Given the description of an element on the screen output the (x, y) to click on. 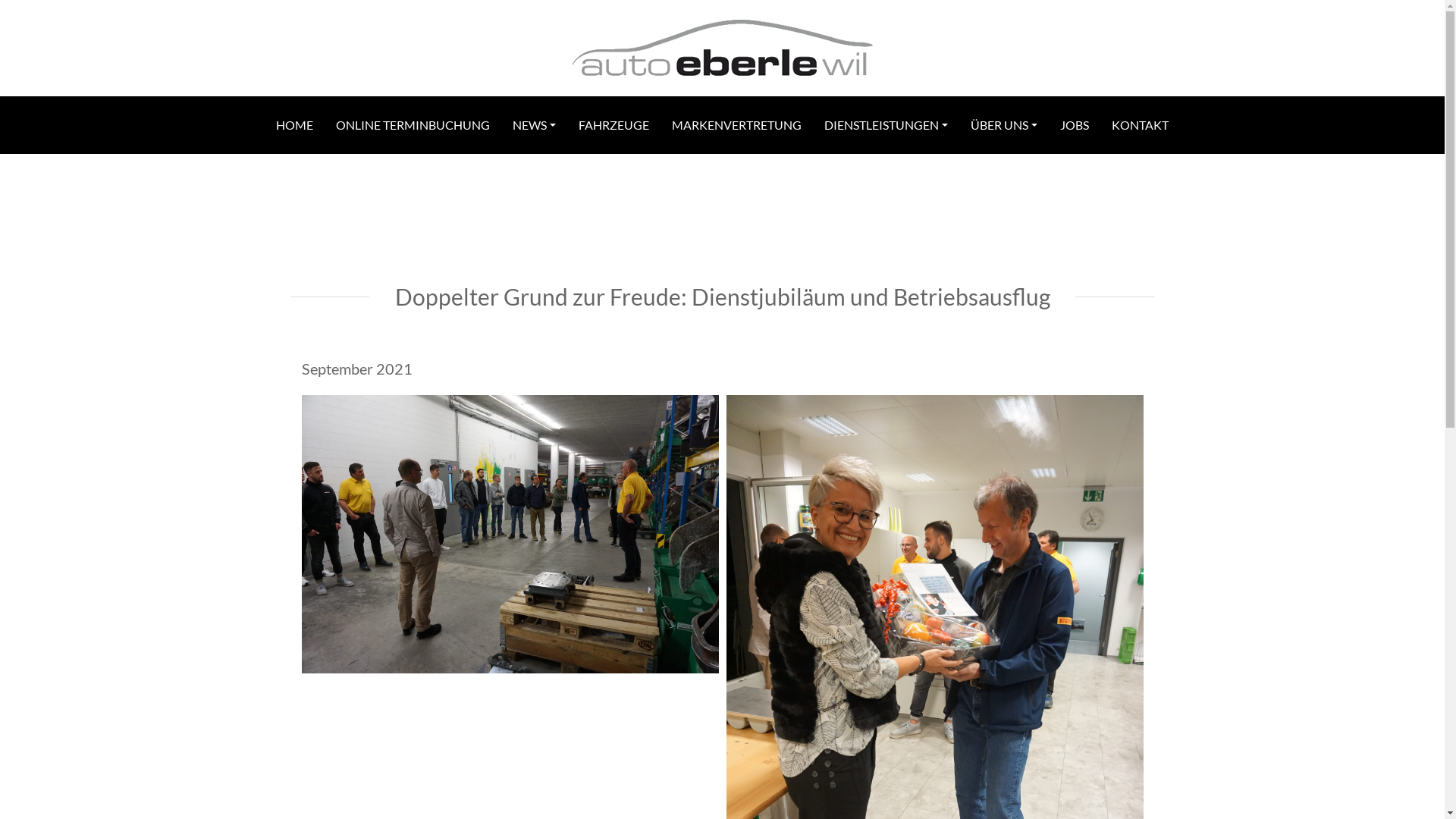
ONLINE TERMINBUCHUNG Element type: text (412, 124)
NEWS Element type: text (534, 124)
DIENSTLEISTUNGEN Element type: text (885, 124)
MARKENVERTRETUNG Element type: text (736, 124)
FAHRZEUGE Element type: text (613, 124)
KONTAKT Element type: text (1139, 124)
JOBS Element type: text (1074, 124)
HOME Element type: text (294, 124)
